Given the description of an element on the screen output the (x, y) to click on. 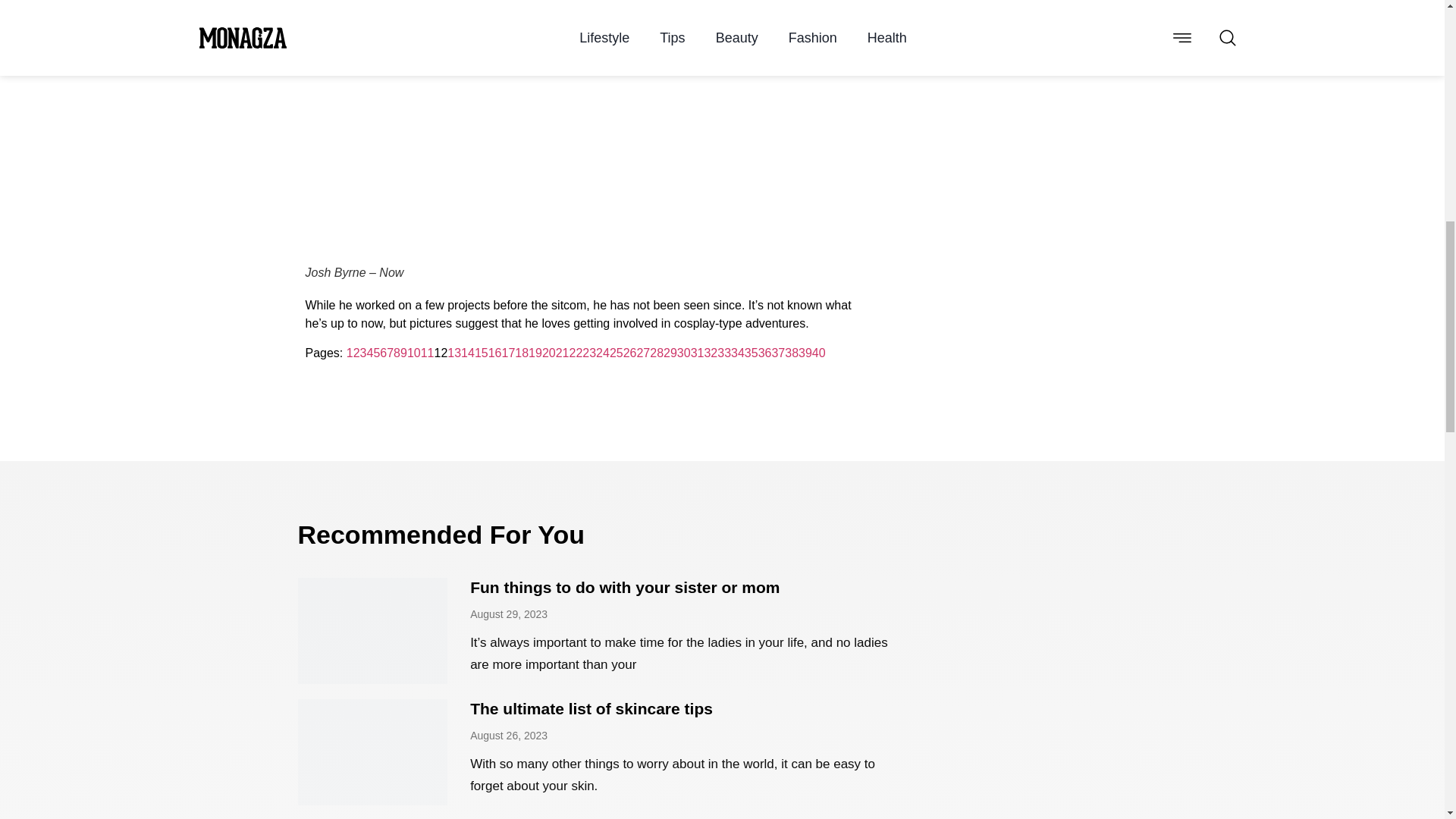
9 (403, 352)
7 (390, 352)
8 (396, 352)
14 (467, 352)
10 (413, 352)
3 (362, 352)
13 (453, 352)
6 (383, 352)
1 (349, 352)
5 (376, 352)
2 (356, 352)
4 (369, 352)
11 (426, 352)
